Given the description of an element on the screen output the (x, y) to click on. 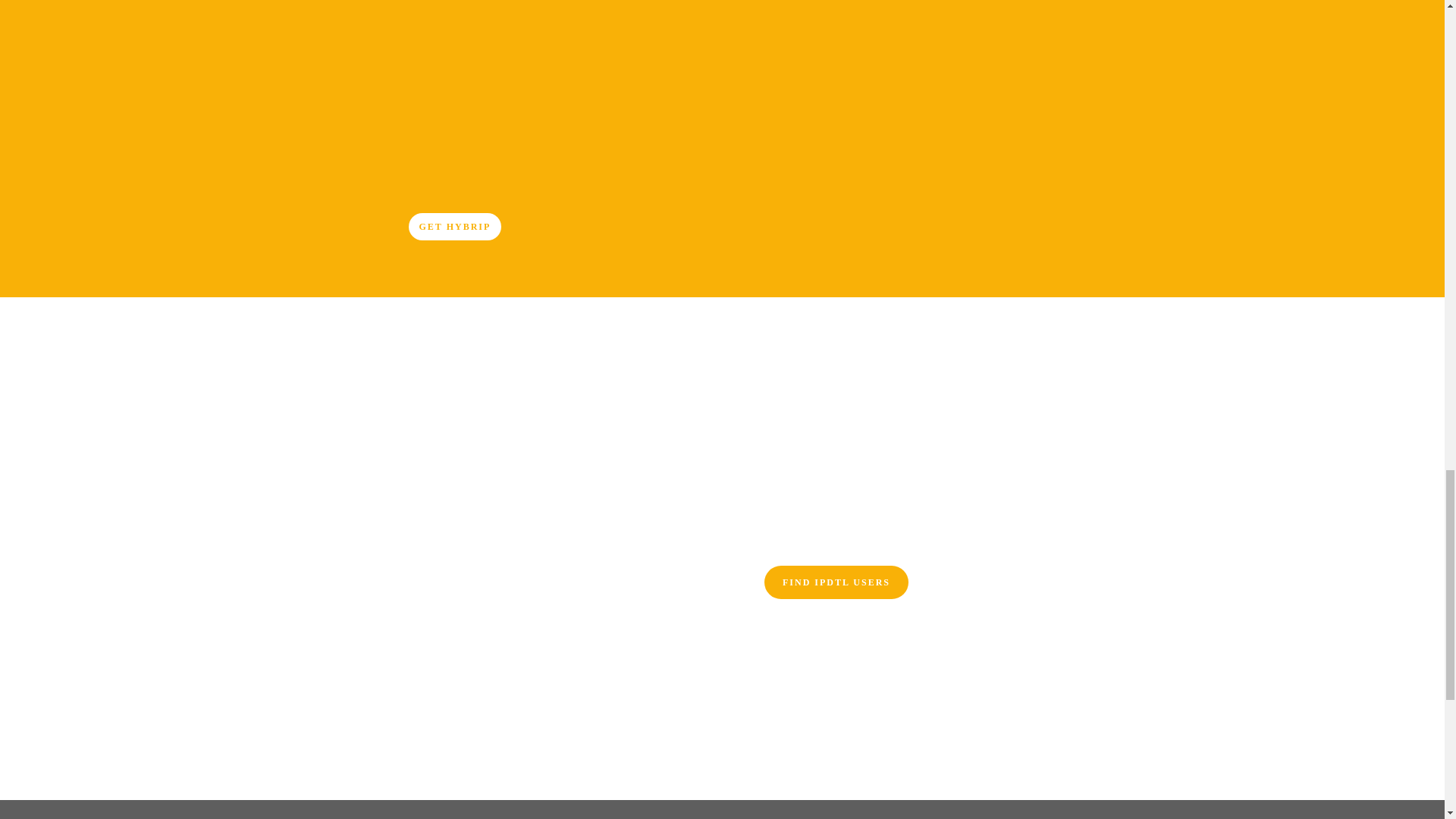
GET HYBRIP (453, 226)
